Given the description of an element on the screen output the (x, y) to click on. 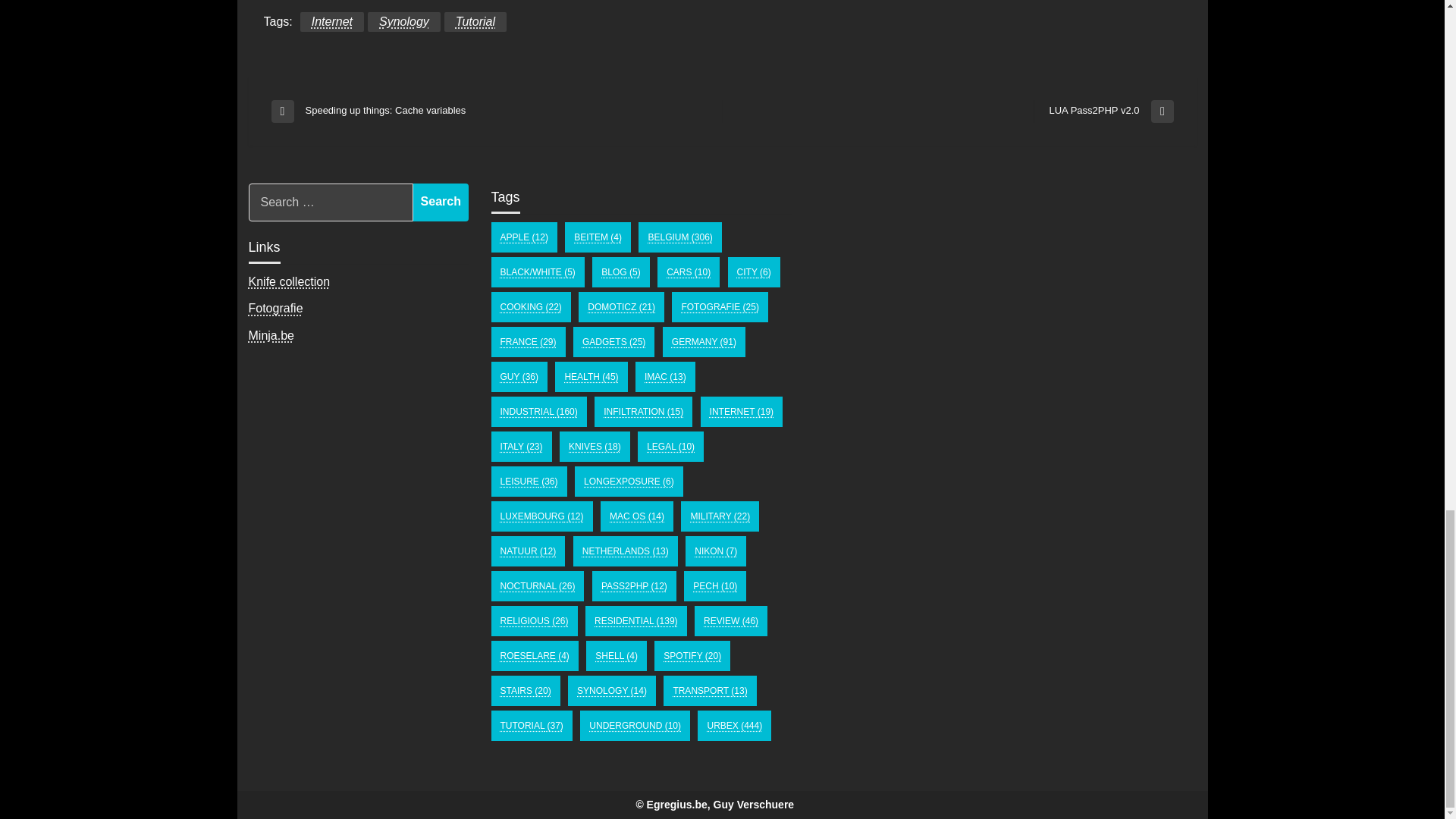
Minja.be (496, 110)
Search (271, 335)
Fotografie (440, 202)
Search (275, 308)
Knife collection (440, 202)
Internet (289, 281)
Search (331, 21)
Synology (440, 202)
